Given the description of an element on the screen output the (x, y) to click on. 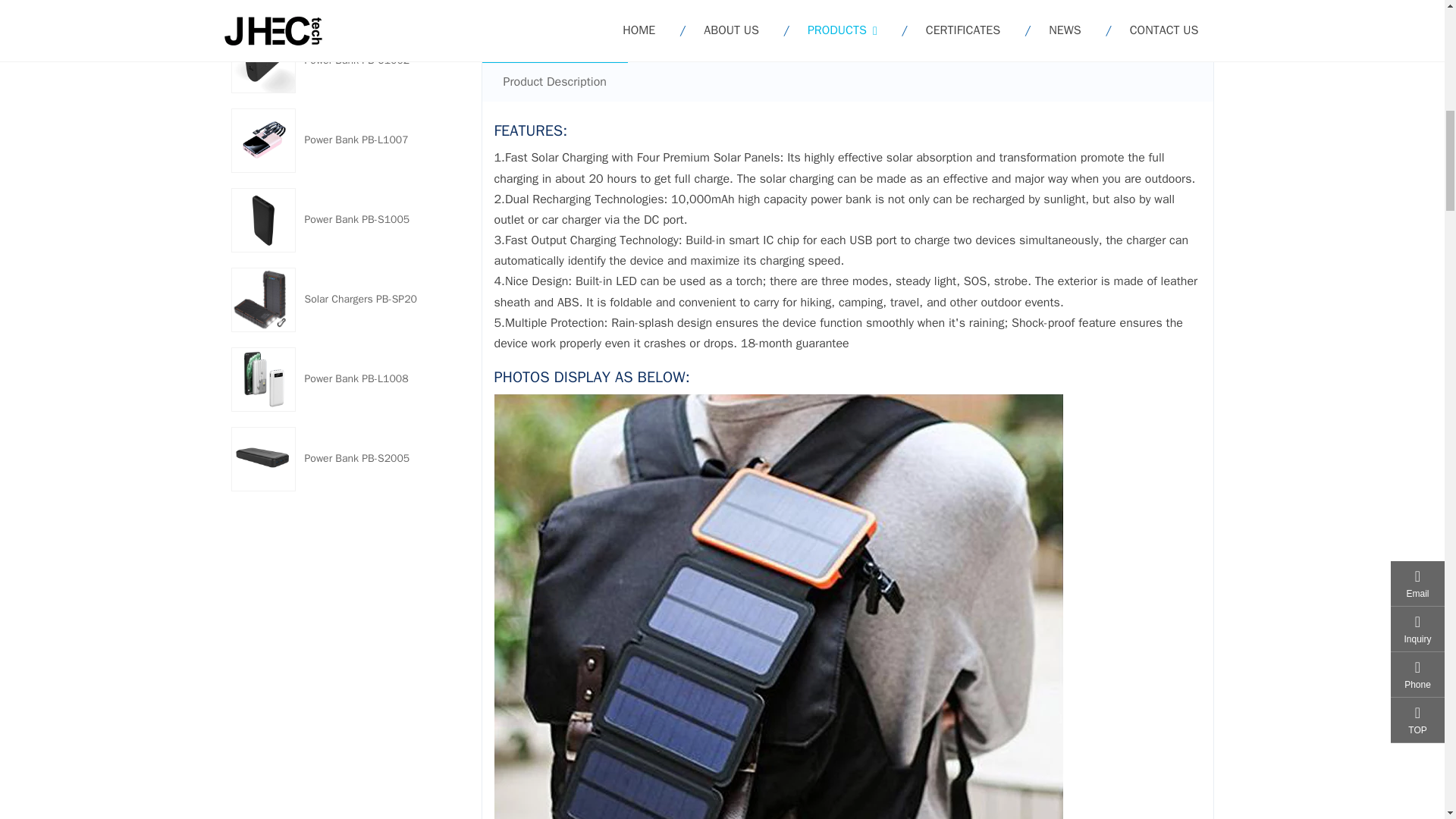
Product Description (554, 81)
Enquiry (823, 31)
Power Bank PB-C1002 (357, 59)
